Given the description of an element on the screen output the (x, y) to click on. 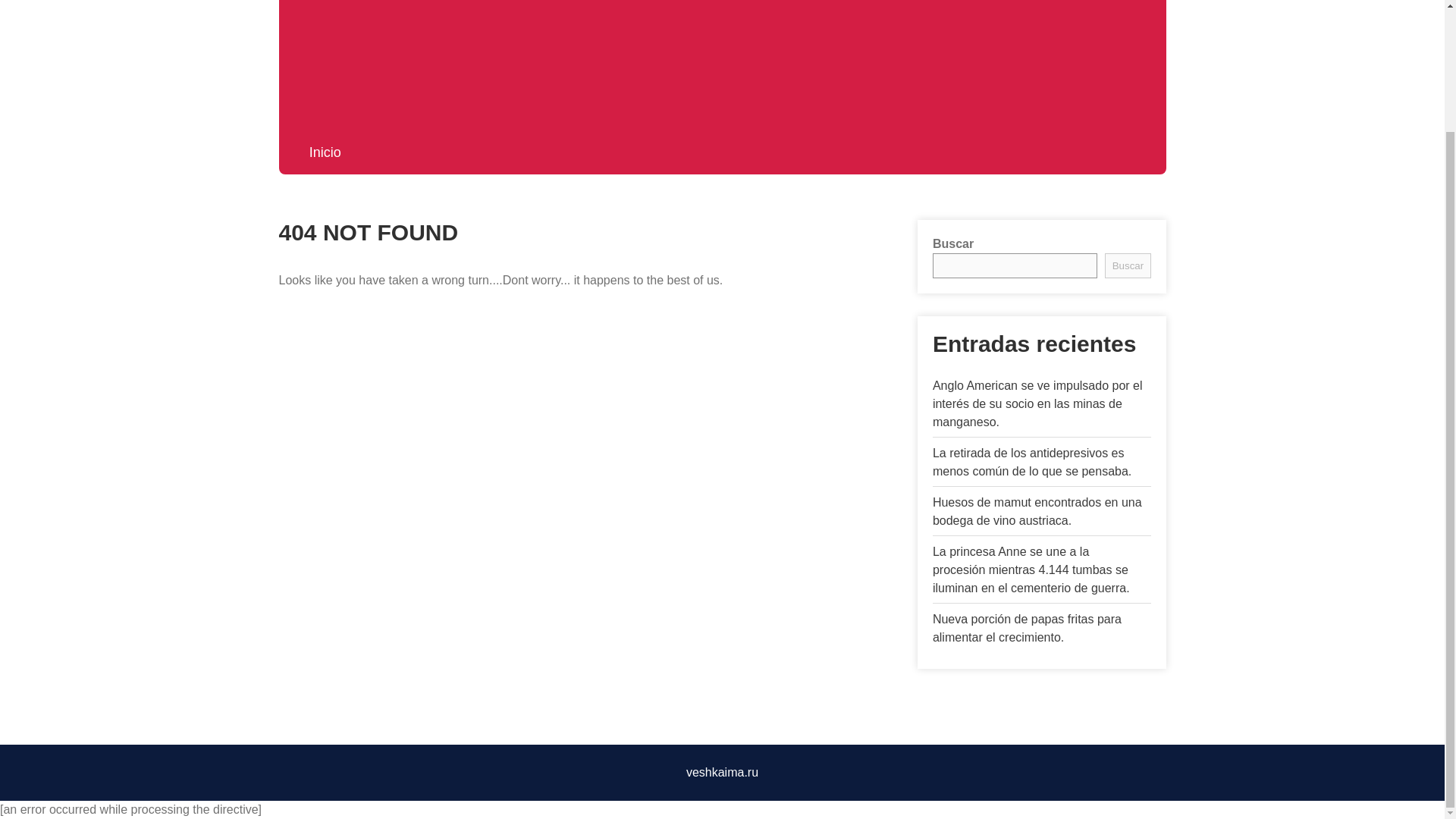
Inicio (324, 152)
Huesos de mamut encontrados en una bodega de vino austriaca. (1037, 511)
Buscar (1127, 265)
Advertisement (722, 61)
